Given the description of an element on the screen output the (x, y) to click on. 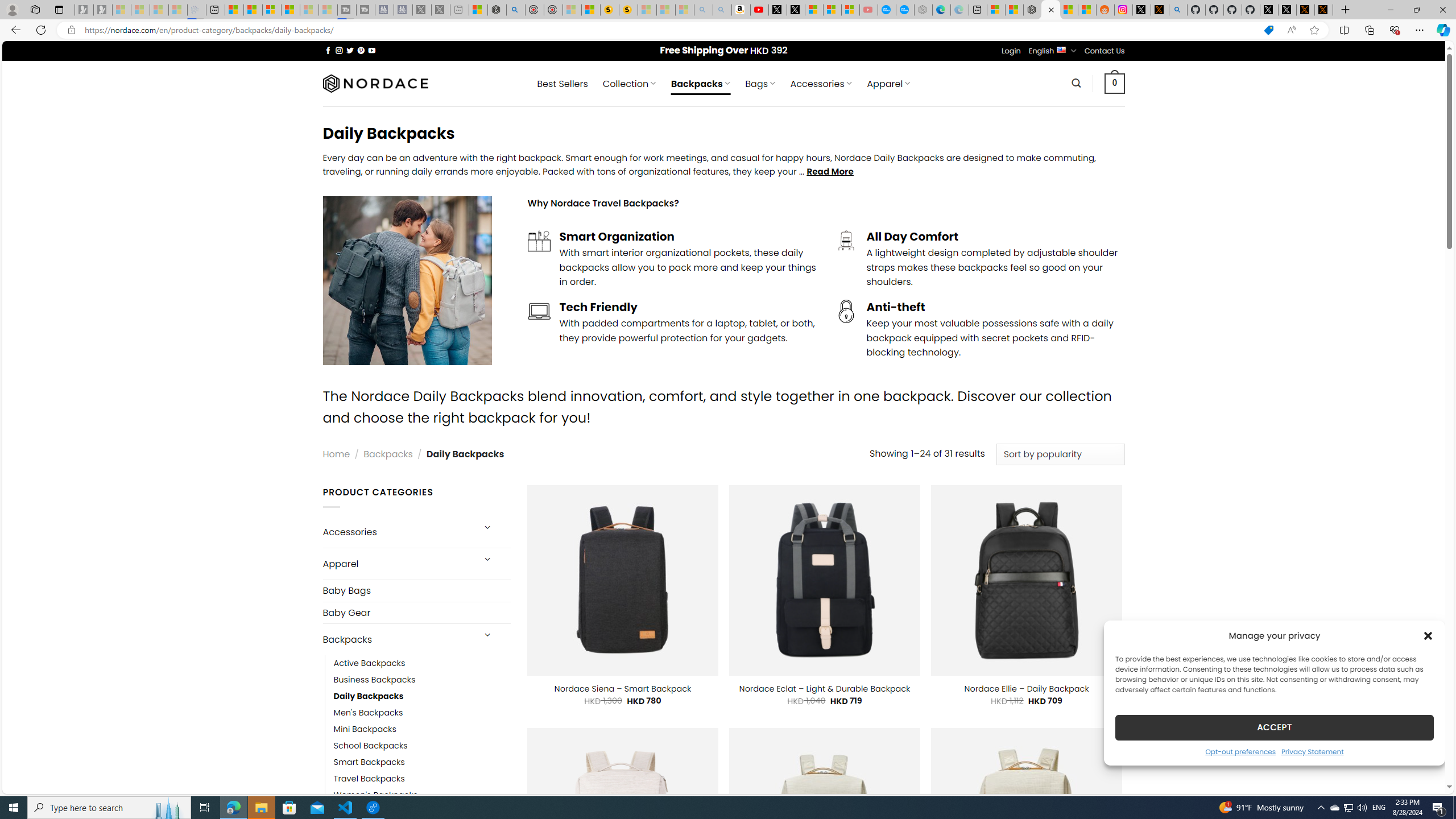
Accessories (397, 531)
School Backpacks (422, 746)
Opt-out preferences (1240, 750)
Follow on Facebook (327, 49)
Microsoft account | Microsoft Account Privacy Settings (996, 9)
Business Backpacks (422, 679)
Gloom - YouTube - Sleeping (868, 9)
